Given the description of an element on the screen output the (x, y) to click on. 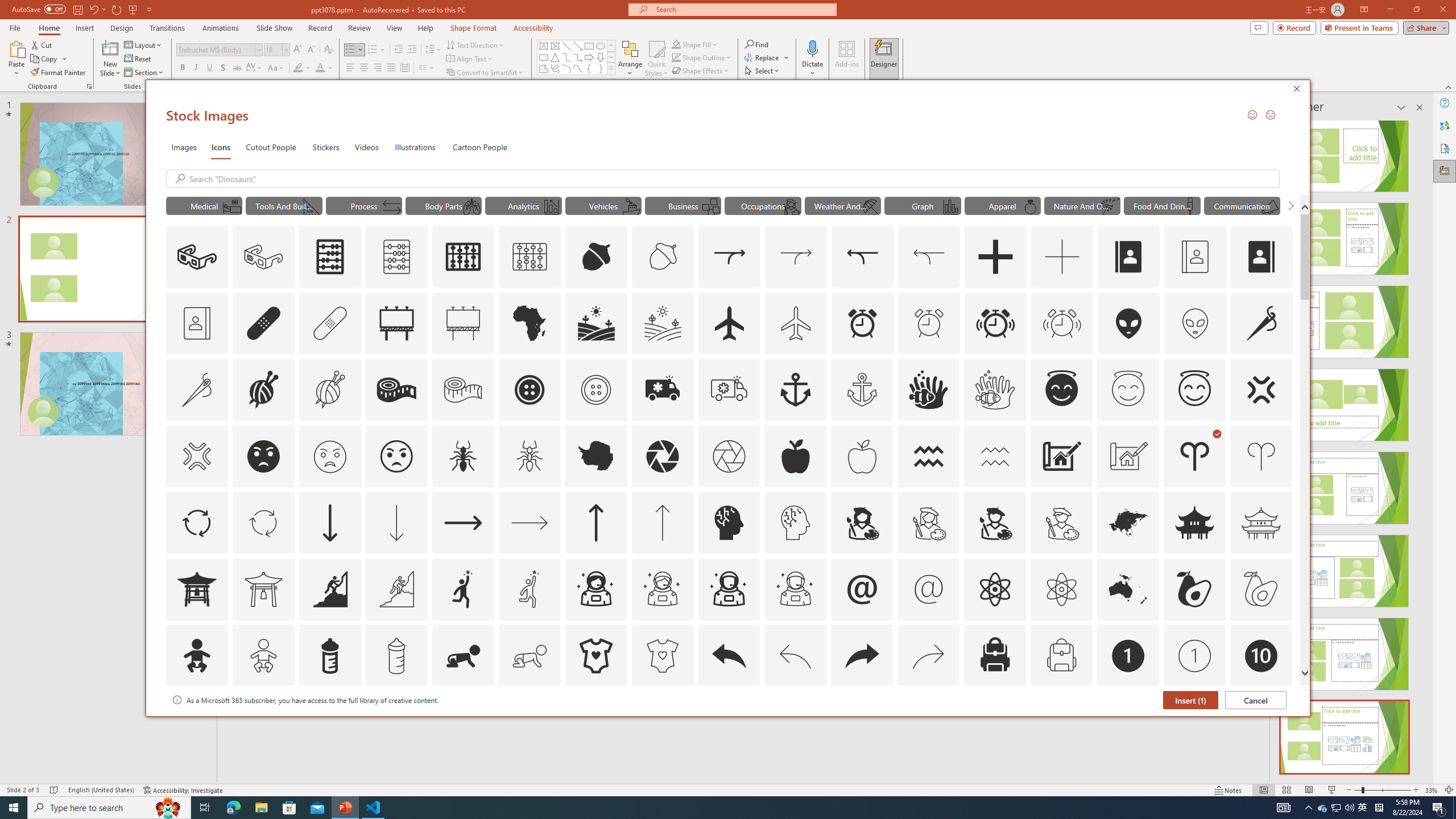
AutomationID: Icons_Aspiration1 (462, 588)
"Business" Icons. (682, 205)
"Graph" Icons. (921, 205)
AutomationID: Icons_Acquisition_LTR_M (796, 256)
AutomationID: Icons_AstronautFemale (595, 588)
AutomationID: Icons_BabyOnesie (595, 655)
AutomationID: Icons_ArtistFemale_M (928, 522)
